Given the description of an element on the screen output the (x, y) to click on. 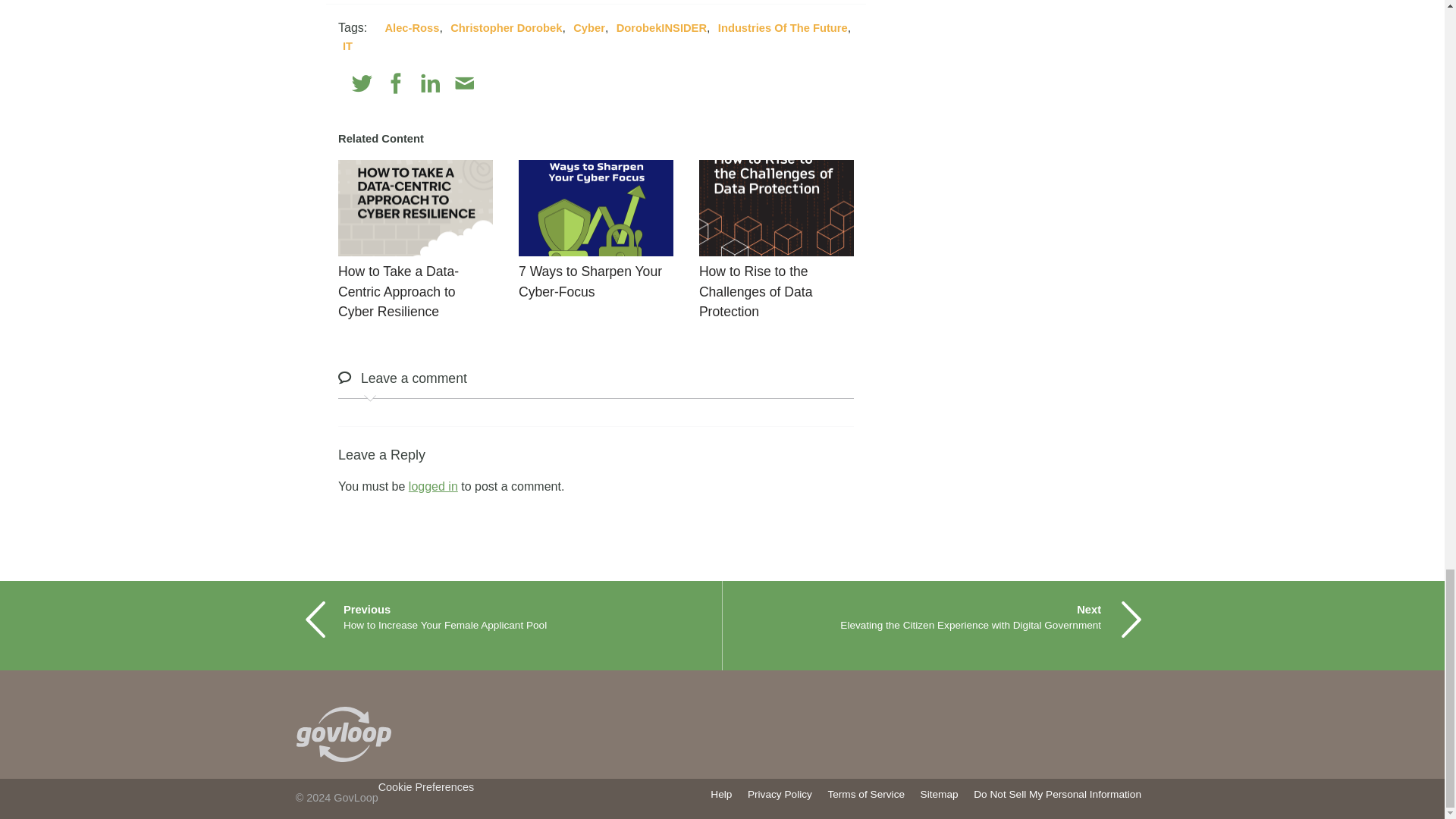
Email (464, 83)
Facebook (395, 83)
Print (497, 83)
Twitter (362, 83)
Linkedin (430, 83)
